Given the description of an element on the screen output the (x, y) to click on. 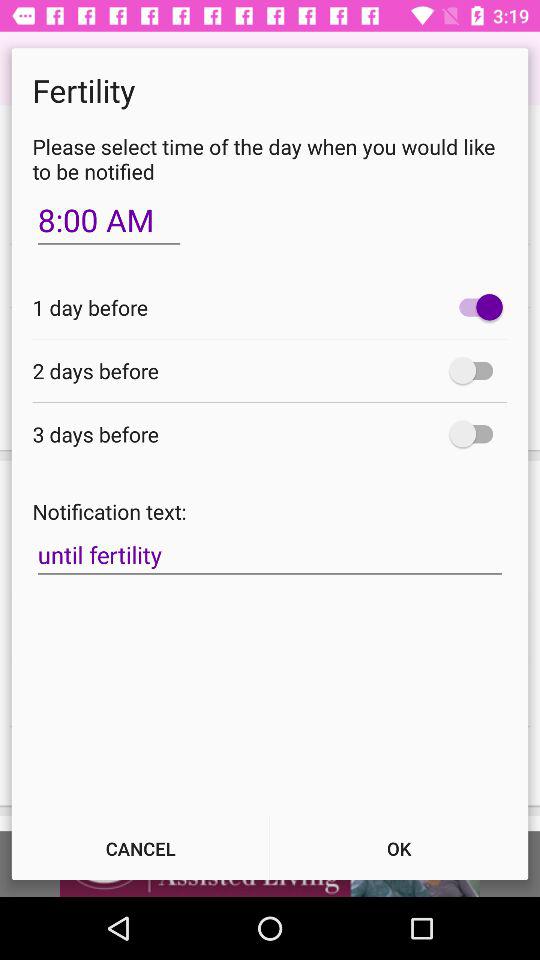
select the icon to the right of the cancel (399, 848)
